Given the description of an element on the screen output the (x, y) to click on. 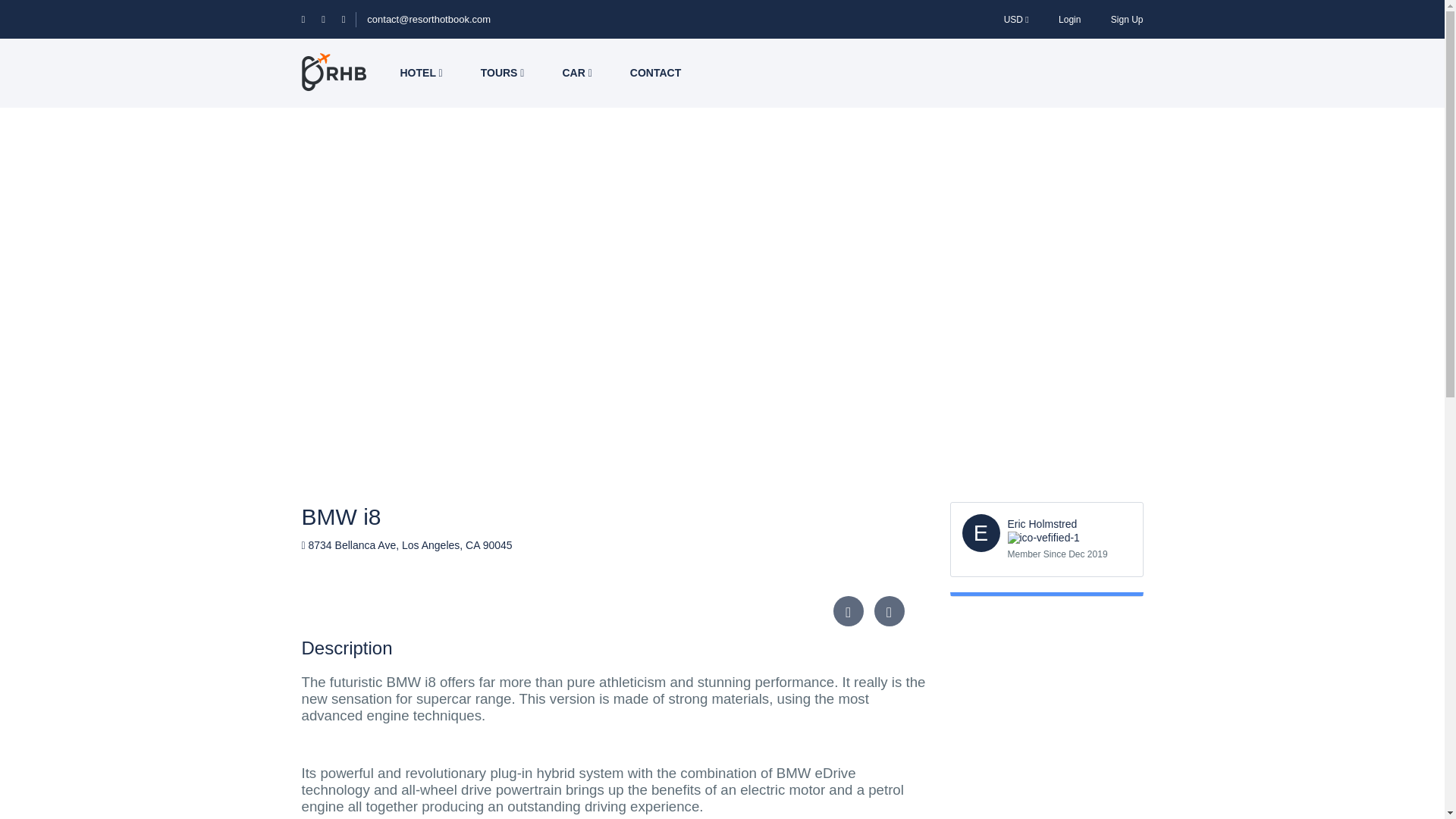
CAR (576, 72)
Sign Up (1126, 18)
Login (1069, 18)
TOURS (502, 72)
CONTACT (655, 72)
Not verified (1042, 537)
HOTEL (420, 72)
USD (1016, 18)
